Given the description of an element on the screen output the (x, y) to click on. 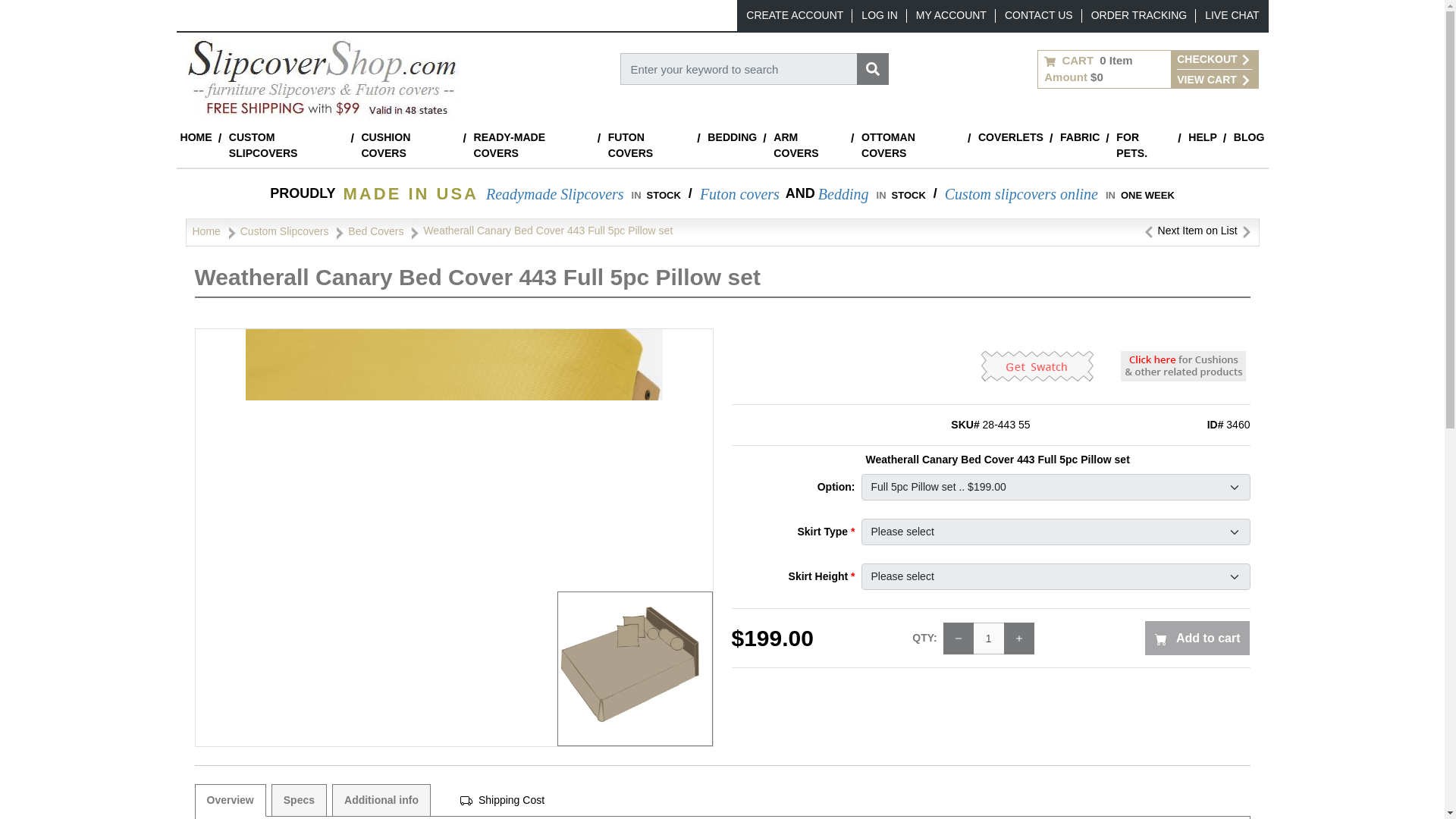
LIVE CHAT (1232, 15)
HOME (195, 137)
Futon covers (739, 193)
Next (1246, 230)
READY-MADE COVERS (531, 145)
MY ACCOUNT (951, 15)
LOG IN (878, 15)
ORDER TRACKING (1139, 15)
CUSHION COVERS (408, 145)
CUSTOM SLIPCOVERS (287, 145)
1 (989, 638)
VIEW CART (1213, 78)
CREATE ACCOUNT (794, 15)
Search (872, 69)
Readymade Slipcovers (555, 193)
